Given the description of an element on the screen output the (x, y) to click on. 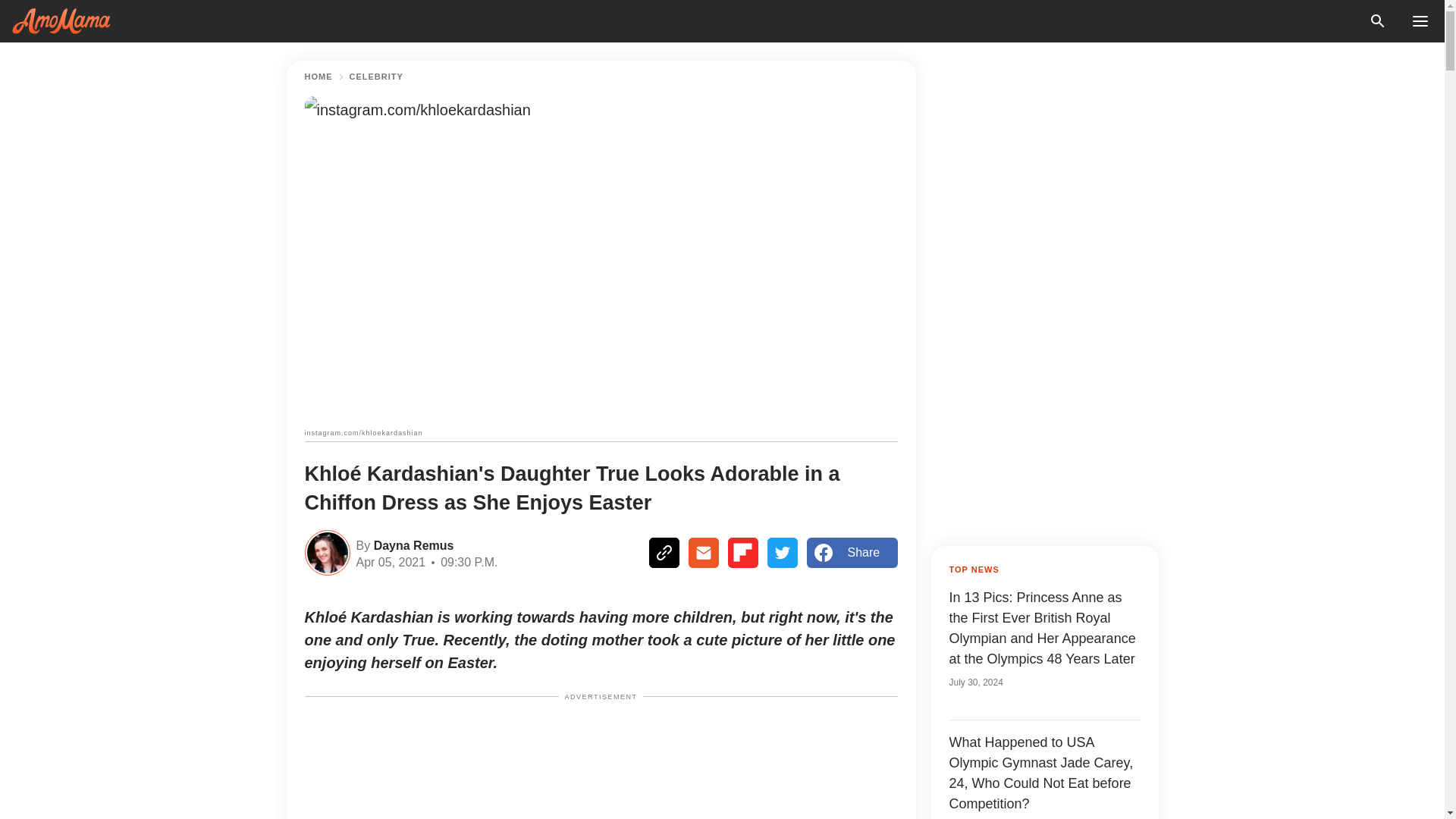
HOME (318, 76)
CELEBRITY (376, 76)
Dayna Remus (410, 544)
